Given the description of an element on the screen output the (x, y) to click on. 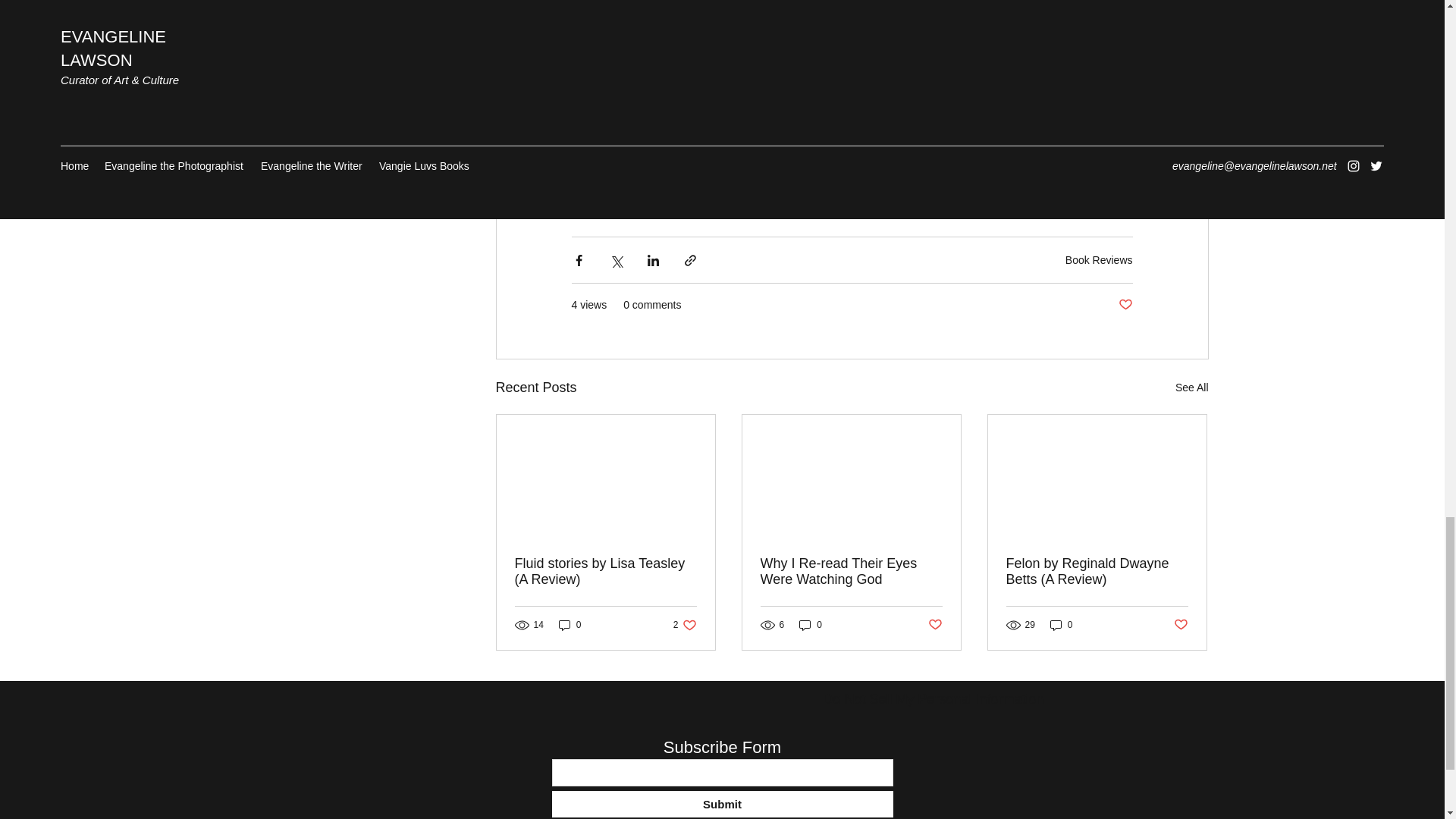
See All (1191, 387)
Post not marked as liked (935, 625)
0 (1061, 625)
Book Reviews (1098, 259)
Post not marked as liked (1180, 625)
0 (810, 625)
Post not marked as liked (1125, 304)
0 (570, 625)
Submit (722, 804)
Why I Re-read Their Eyes Were Watching God (684, 625)
Do Not Sell My Personal Information (851, 572)
